Given the description of an element on the screen output the (x, y) to click on. 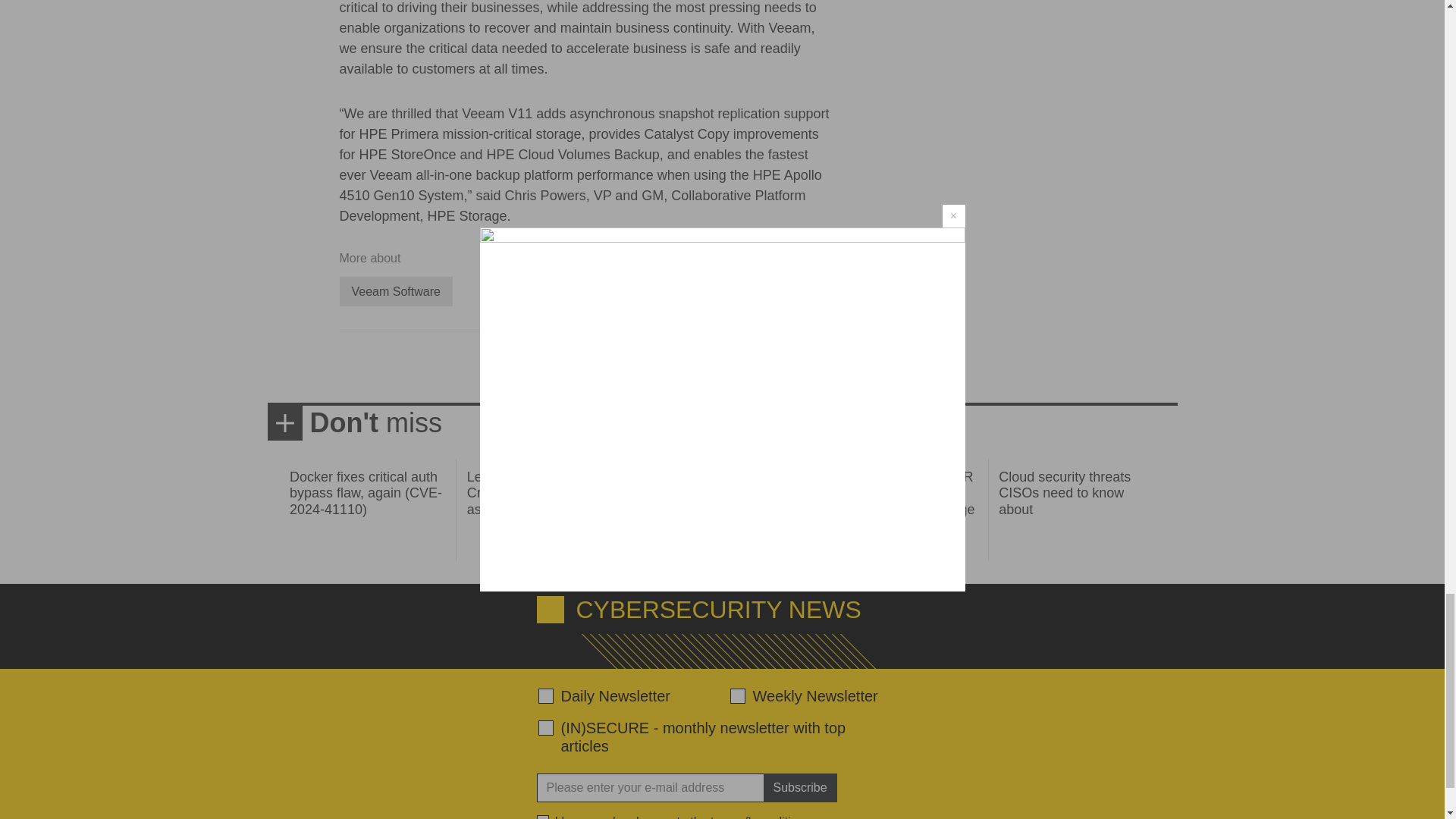
Veeam Software (395, 291)
d2d471aafa (736, 695)
520ac2f639 (545, 695)
28abe5d9ef (545, 727)
Cloud security threats CISOs need to know about (1064, 492)
Veeam Software (395, 291)
1 (542, 816)
